Given the description of an element on the screen output the (x, y) to click on. 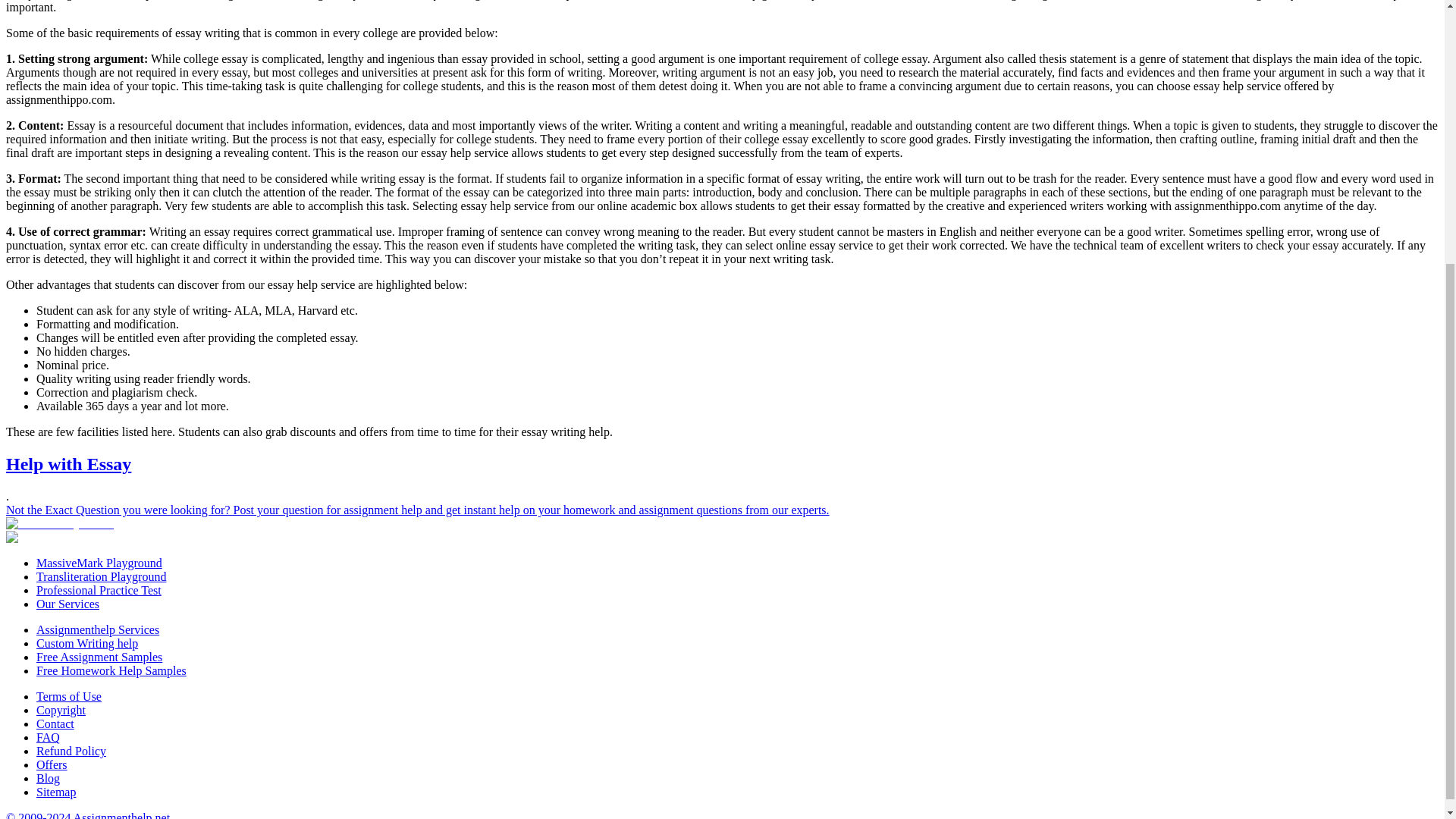
Professional Practice Test (98, 590)
FAQ (47, 737)
Free Homework Help Samples (111, 670)
Help with Essay (68, 464)
Free Assignment Samples (98, 656)
Assignmenthelp Services (97, 629)
Contact (55, 723)
Blog (47, 778)
Sitemap (55, 791)
Our Services (67, 603)
Custom Writing help (87, 643)
MassiveMark Playground (98, 562)
Refund Policy (71, 750)
Help with Essay (68, 464)
